Given the description of an element on the screen output the (x, y) to click on. 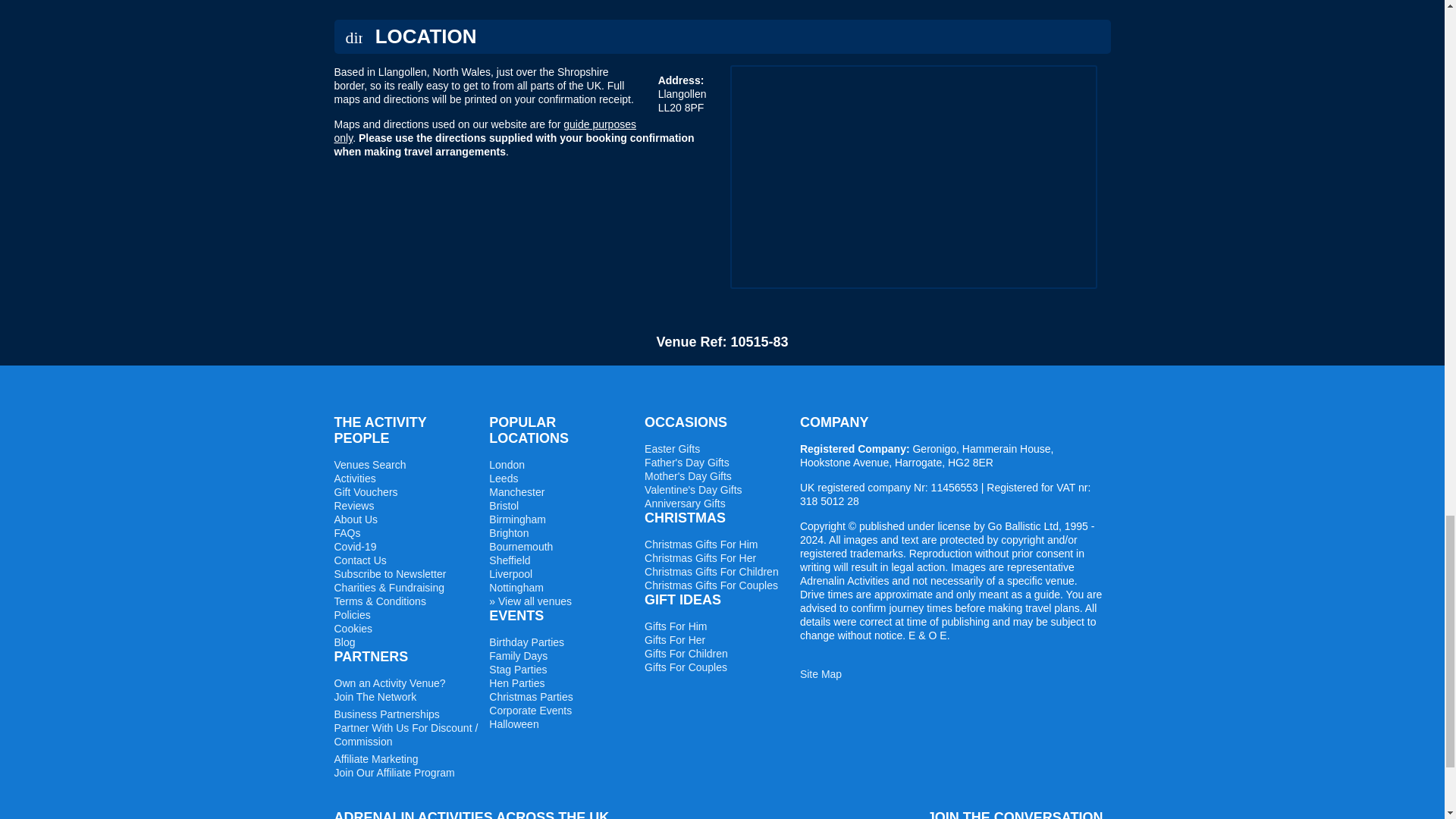
Gift Vouchers (365, 491)
FAQs (346, 532)
About Us (355, 519)
Venues Search (369, 464)
Activities (354, 478)
Reviews (353, 505)
